Given the description of an element on the screen output the (x, y) to click on. 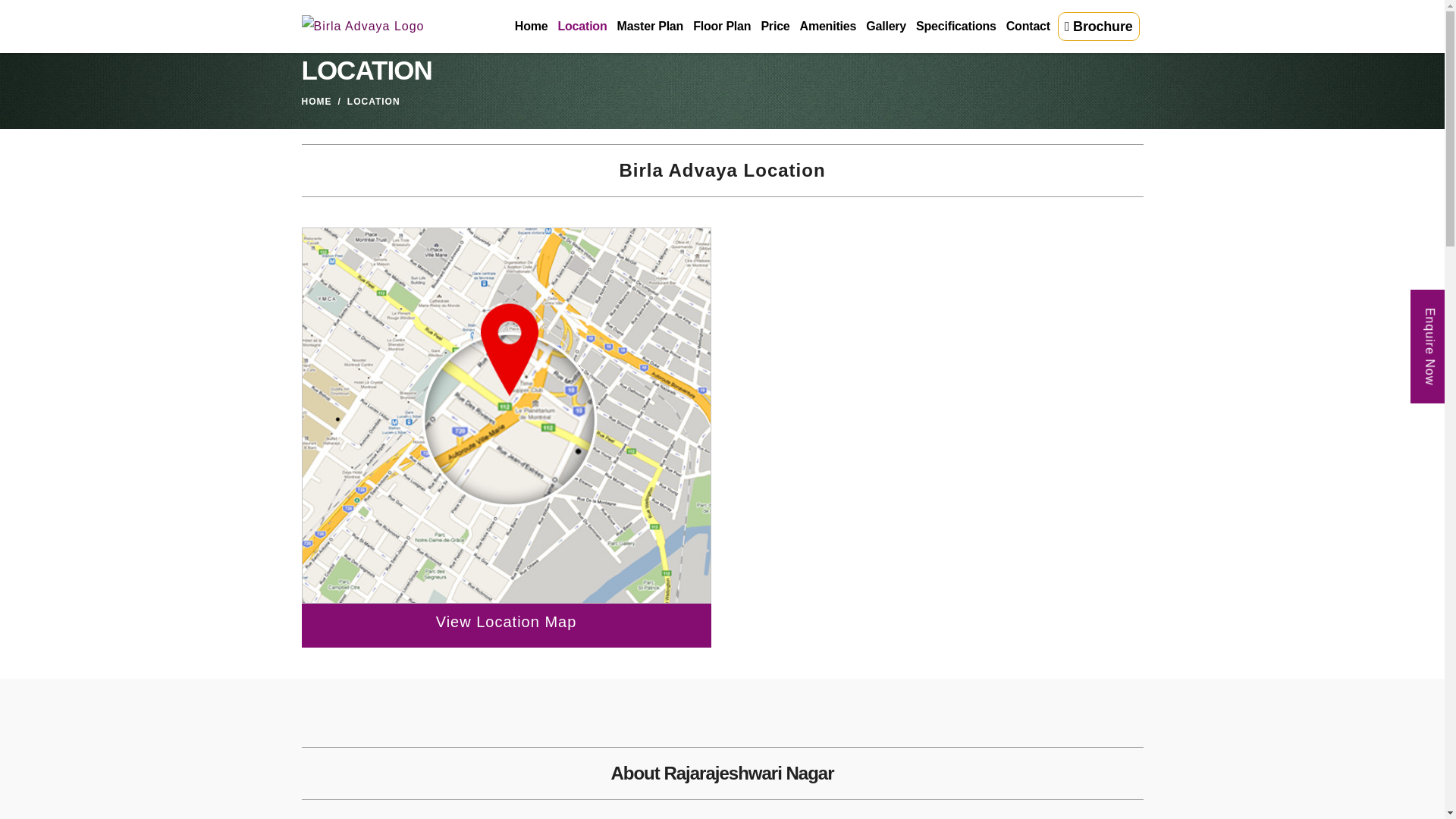
Birla Advaya Amenities (826, 26)
Birla Advaya Gallery (885, 26)
Birla Advaya Location (580, 26)
Amenities (826, 26)
Master Plan (649, 26)
Brochure (1099, 26)
Floor Plan (720, 26)
HOME (316, 101)
Birla Advaya Contact (1027, 26)
Birla Advaya Master Plan (649, 26)
